Given the description of an element on the screen output the (x, y) to click on. 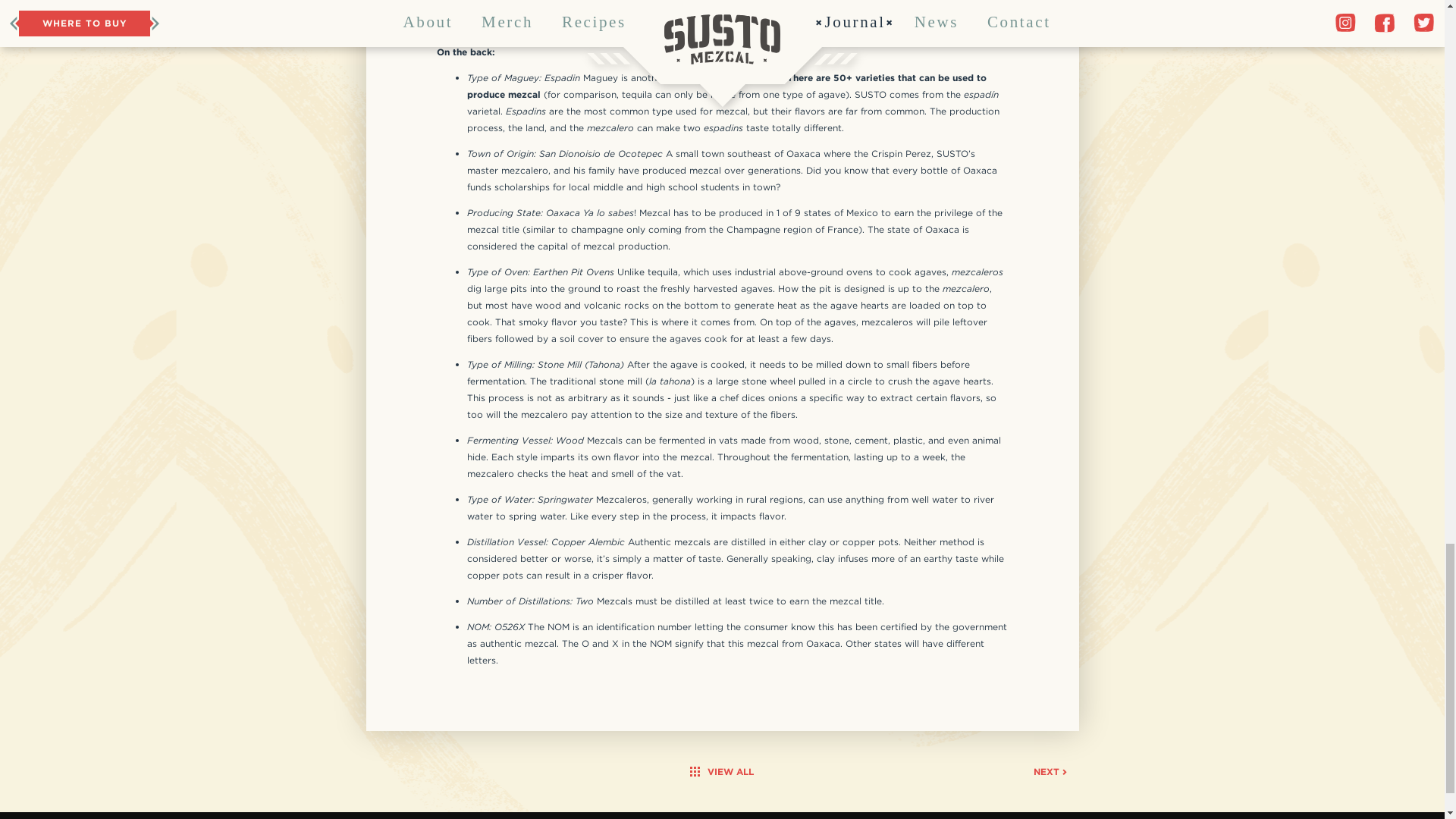
VIEW ALL (721, 771)
NEXT (1050, 771)
